Given the description of an element on the screen output the (x, y) to click on. 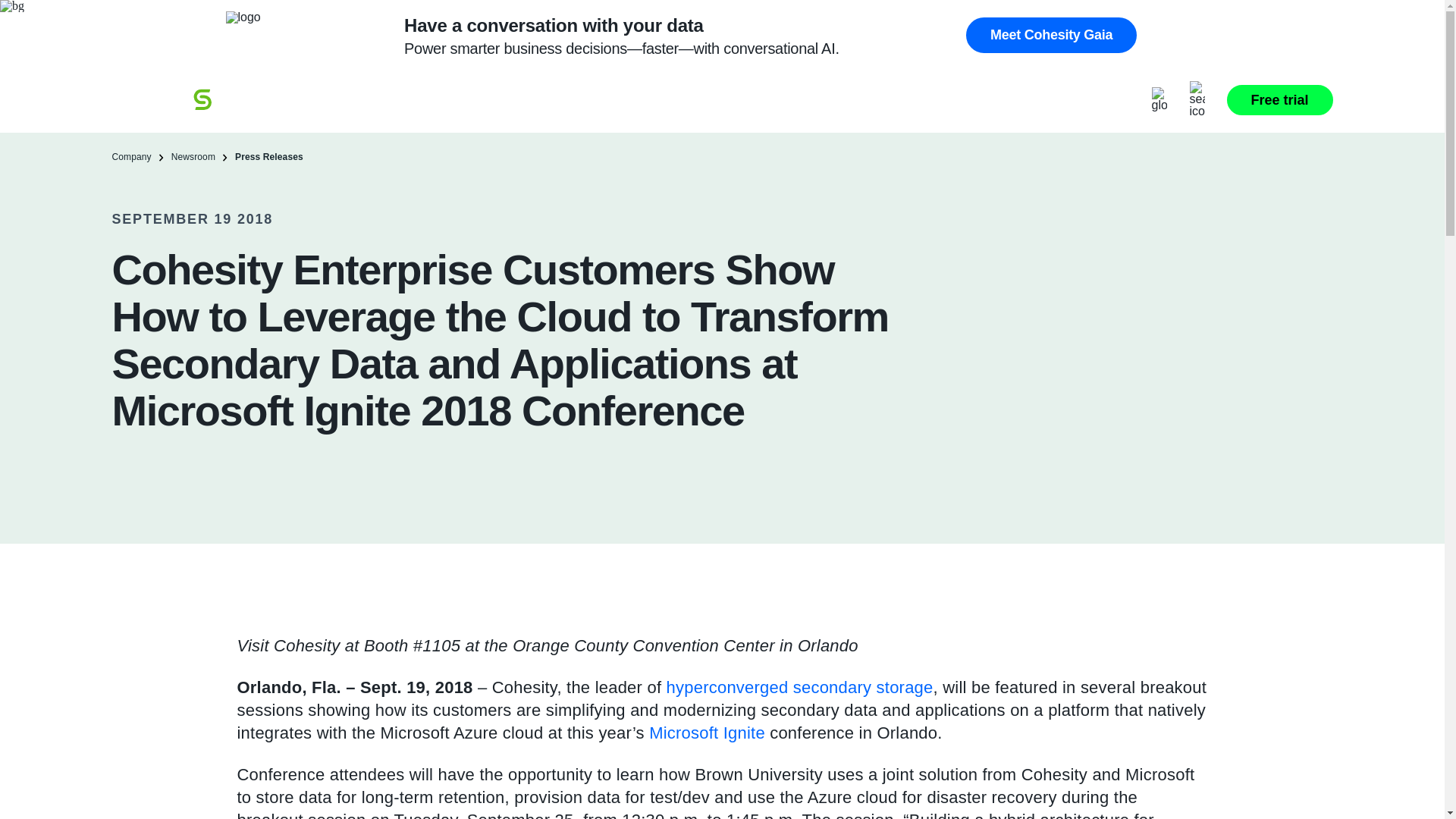
Products (483, 112)
Meet Cohesity Gaia (1051, 35)
Why Cohesity (358, 112)
